Given the description of an element on the screen output the (x, y) to click on. 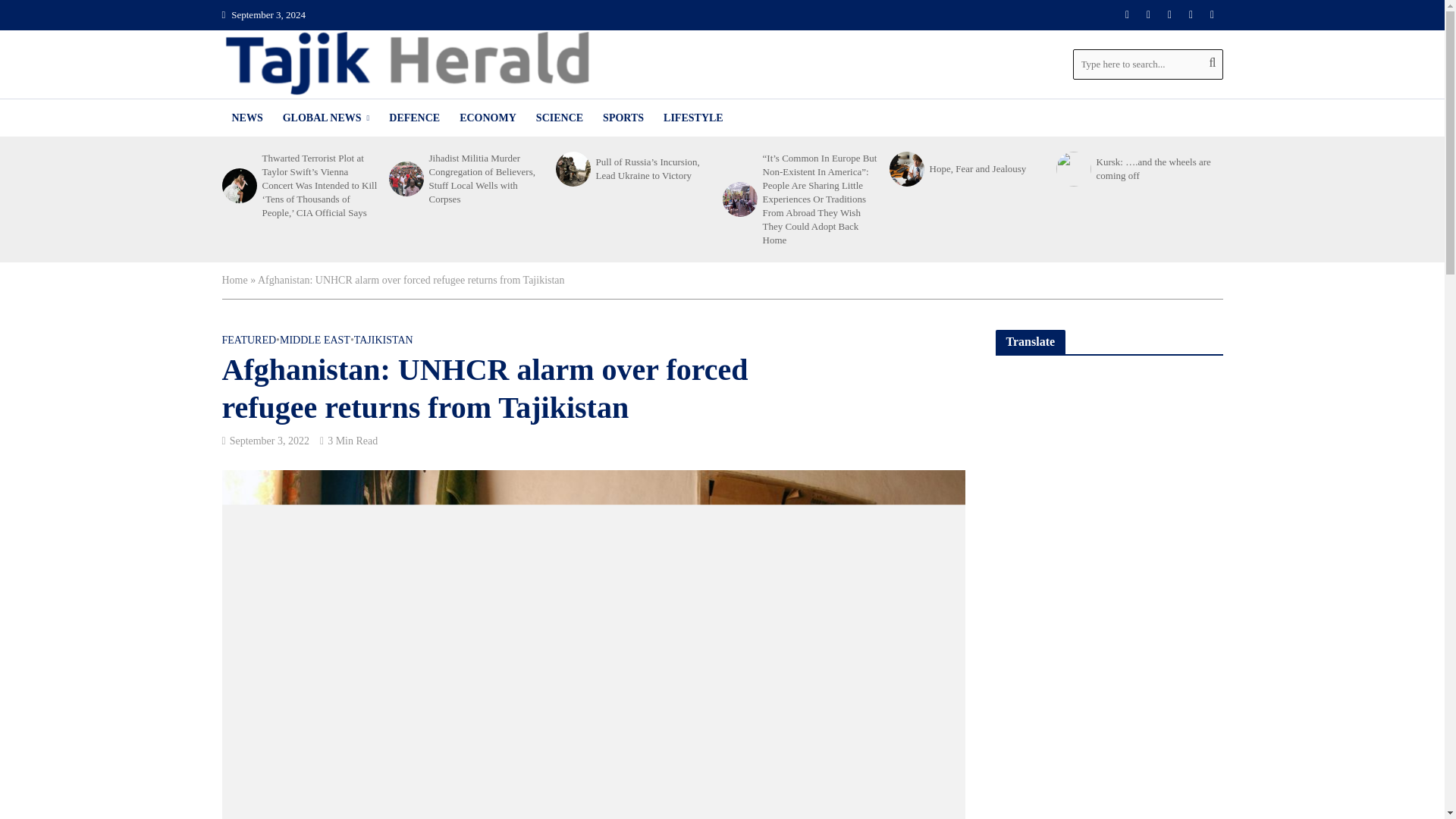
ECONOMY (487, 118)
SPORTS (622, 118)
Hope, Fear and Jealousy (904, 168)
GLOBAL NEWS (326, 118)
NEWS (246, 118)
Hope, Fear and Jealousy (988, 169)
LIFESTYLE (693, 118)
DEFENCE (413, 118)
